Given the description of an element on the screen output the (x, y) to click on. 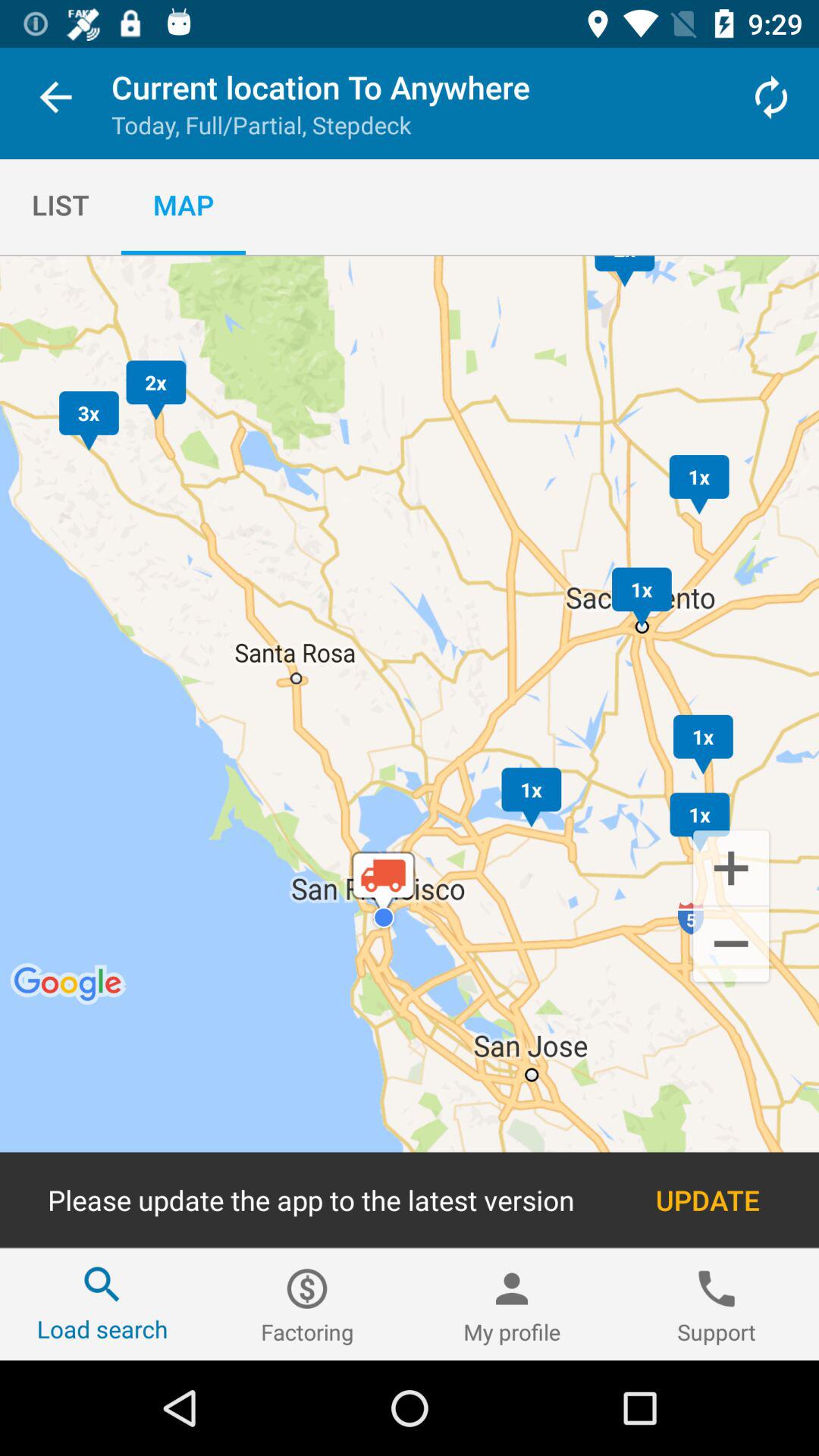
open the support (716, 1304)
